Given the description of an element on the screen output the (x, y) to click on. 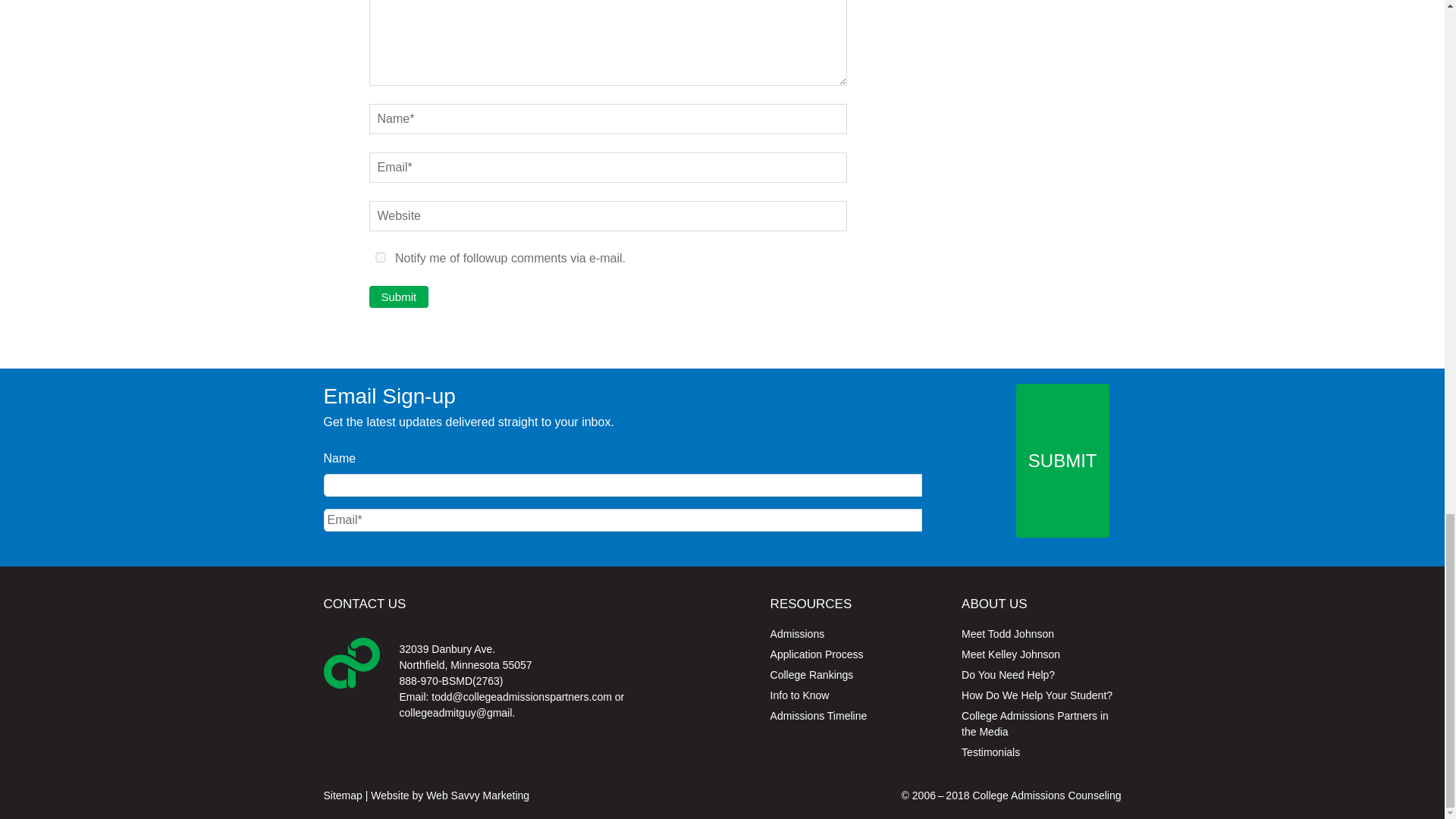
yes (379, 257)
Submit (398, 296)
